Given the description of an element on the screen output the (x, y) to click on. 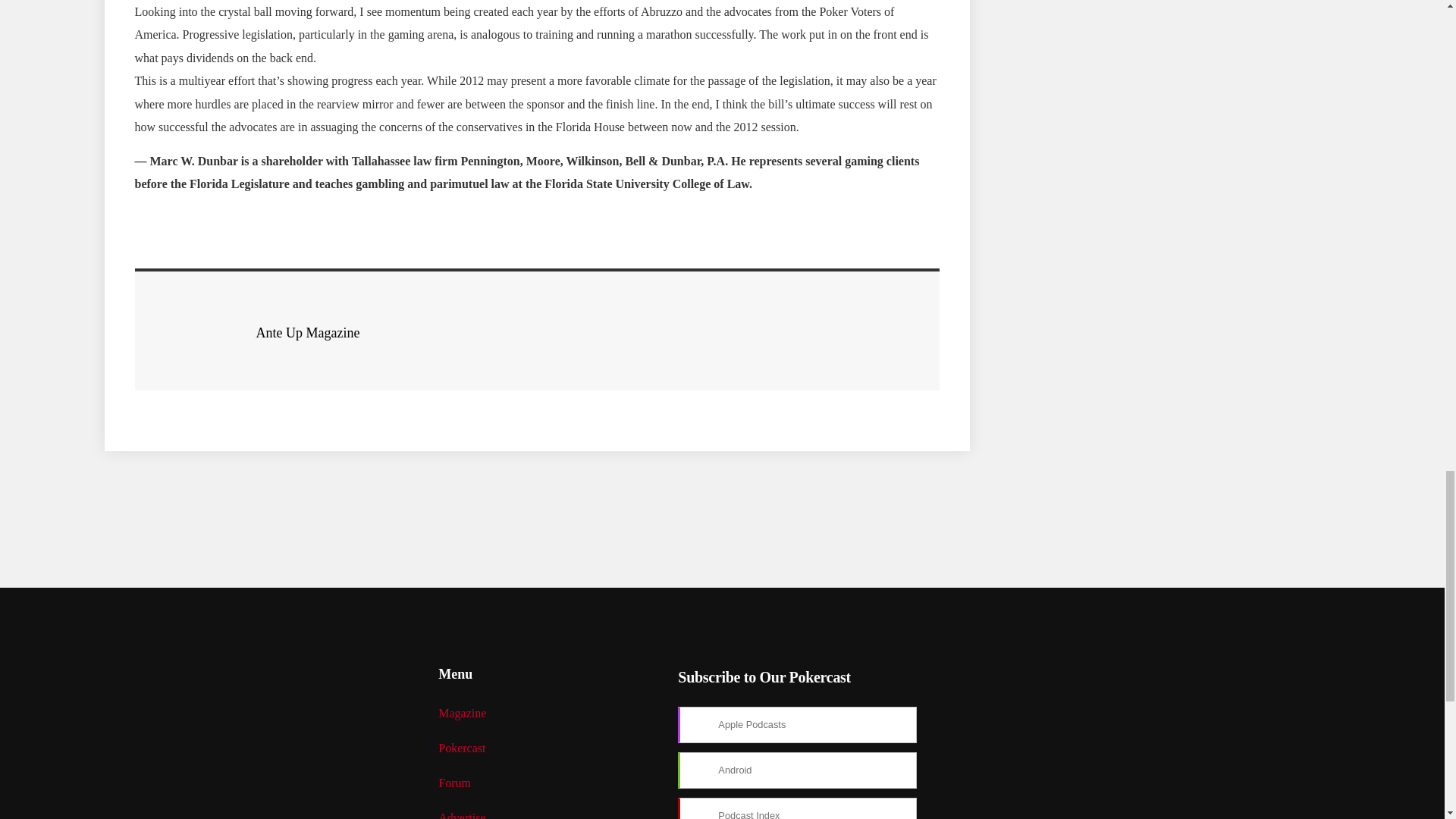
Subscribe on Apple Podcasts (797, 724)
Subscribe on Podcast Index (797, 808)
Subscribe on Android (797, 770)
